Given the description of an element on the screen output the (x, y) to click on. 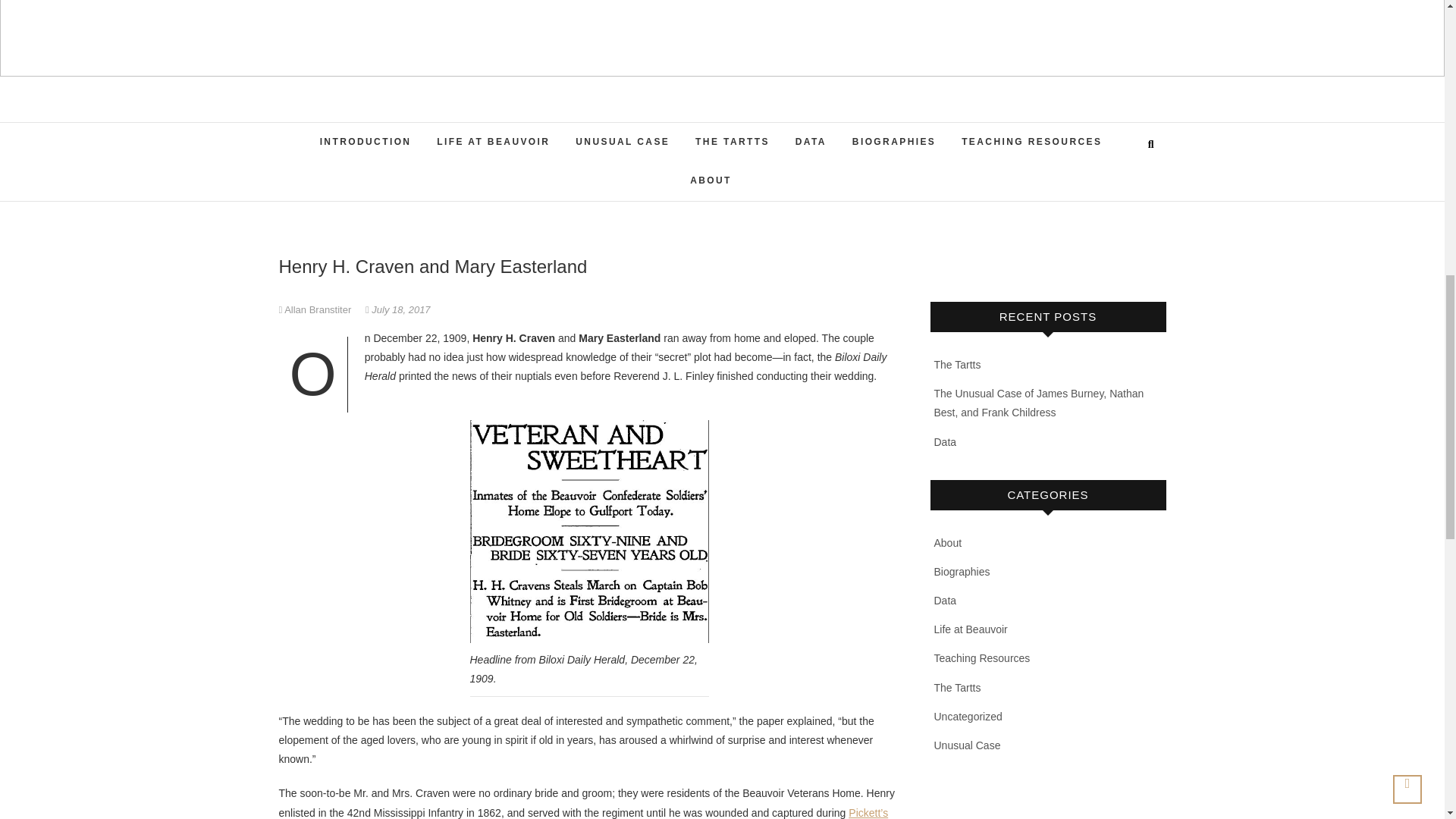
TEACHING RESOURCES (1031, 142)
Unusual Case (967, 745)
Henry H. Craven and Mary Easterland (316, 309)
Allan Branstiter (316, 309)
July 18, 2017 (397, 309)
UNUSUAL CASE (622, 142)
The Tartts (957, 687)
The Tartts (957, 364)
Biographies (962, 571)
